Given the description of an element on the screen output the (x, y) to click on. 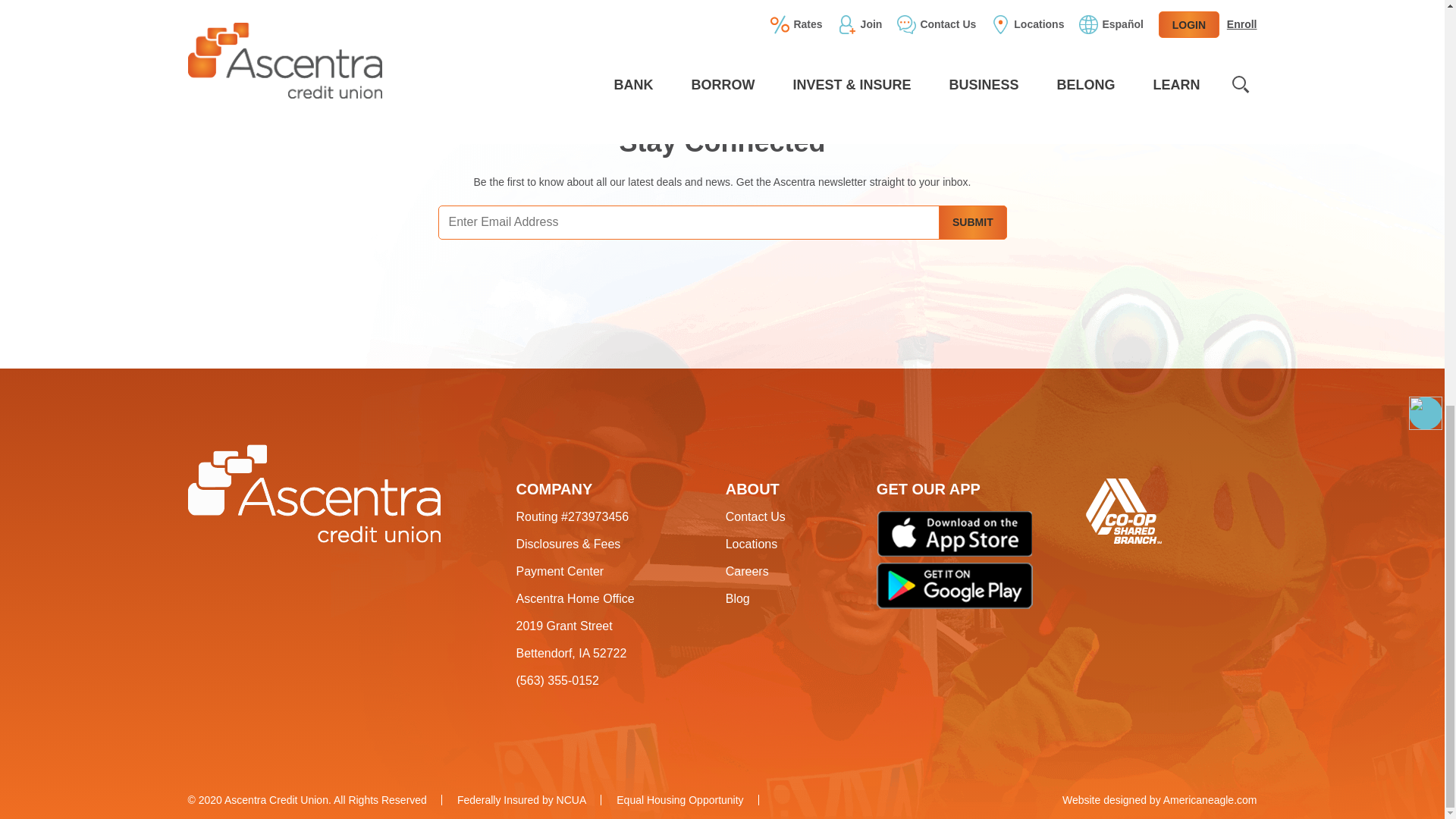
google-play (954, 585)
coop-shared (1123, 510)
app-store (954, 533)
acentra-logo-white (314, 493)
